Given the description of an element on the screen output the (x, y) to click on. 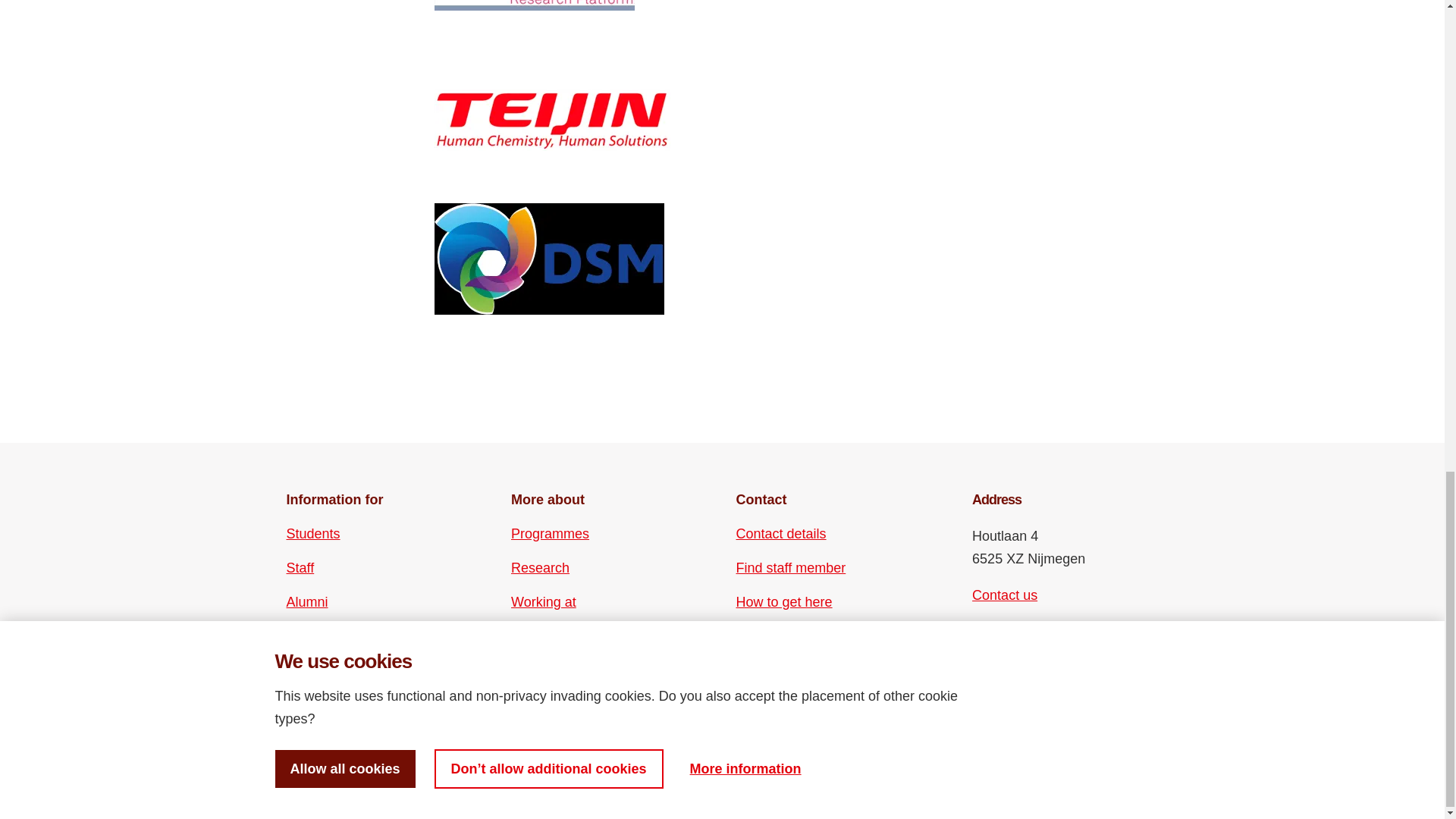
SnapChat (1062, 667)
TikTok (1036, 667)
Facebook (983, 640)
X (983, 667)
Instagram (1010, 640)
Mastodon (1062, 640)
YouTube (1010, 667)
LinkedIn (1036, 640)
Information about our campus and how to get here (784, 601)
